Given the description of an element on the screen output the (x, y) to click on. 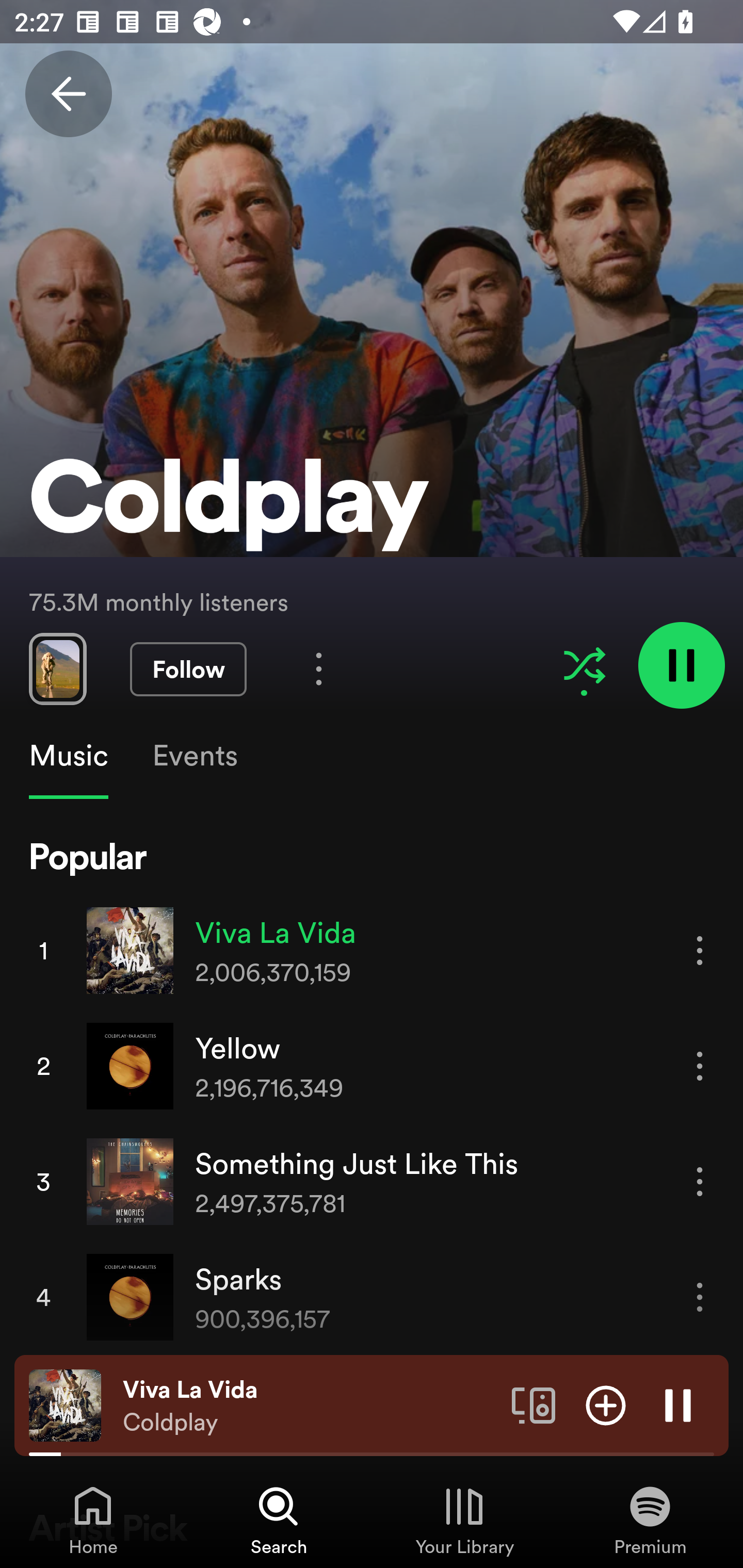
Back (68, 93)
Pause artist (681, 664)
Disable shuffle for this artist (583, 665)
Swipe through previews of tracks from this artist. (57, 668)
More options for artist Coldplay (318, 668)
Follow (188, 669)
Events (194, 755)
More options for song Viva La Vida (699, 950)
More options for song Yellow (699, 1066)
More options for song Something Just Like This (699, 1181)
4 Sparks 900,396,157 More options for song Sparks (371, 1296)
More options for song Sparks (699, 1297)
Viva La Vida Coldplay (309, 1405)
The cover art of the currently playing track (64, 1404)
Connect to a device. Opens the devices menu (533, 1404)
Add item (605, 1404)
Pause (677, 1404)
Home, Tab 1 of 4 Home Home (92, 1519)
Search, Tab 2 of 4 Search Search (278, 1519)
Your Library, Tab 3 of 4 Your Library Your Library (464, 1519)
Premium, Tab 4 of 4 Premium Premium (650, 1519)
